Given the description of an element on the screen output the (x, y) to click on. 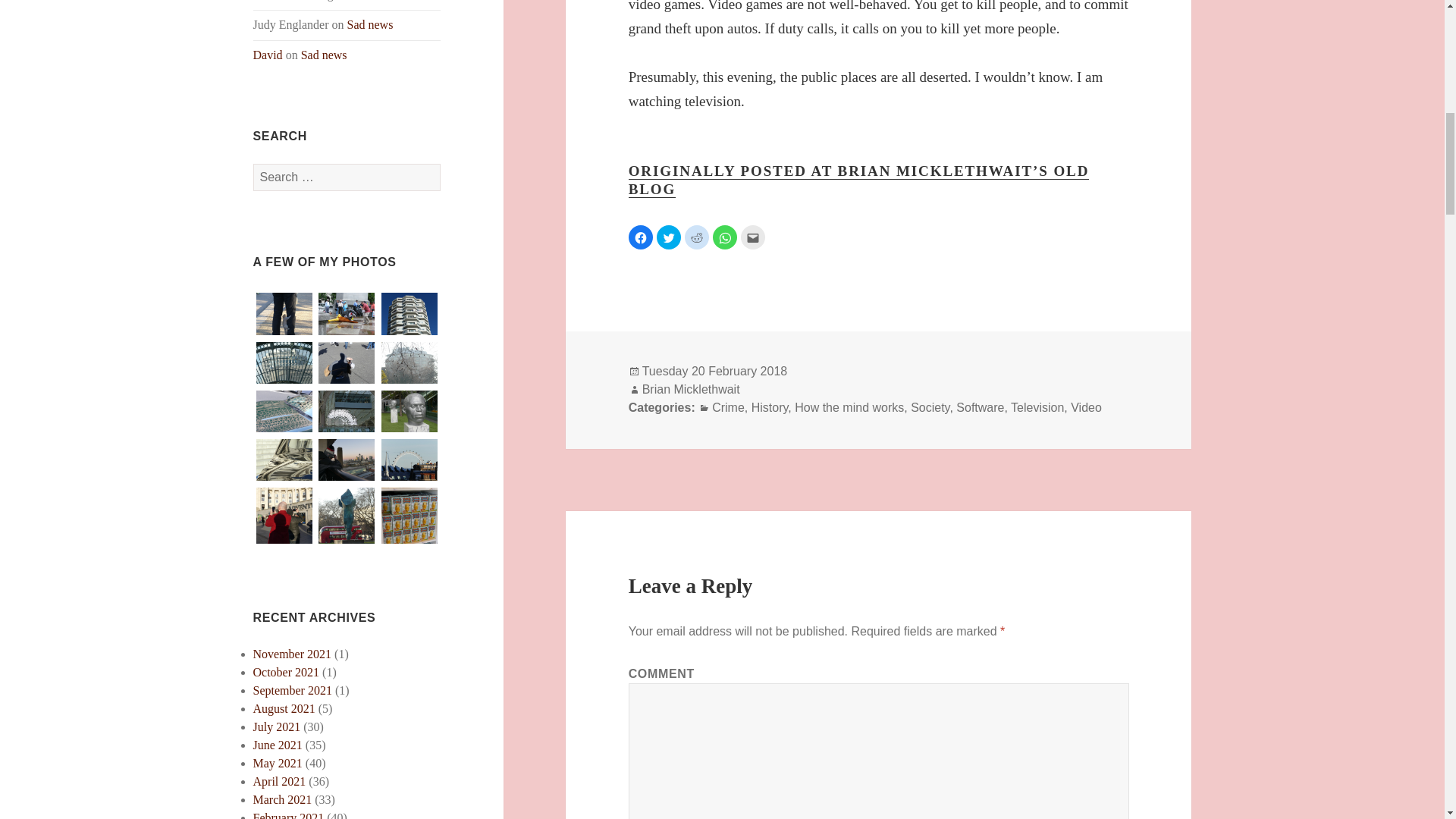
Sad news (324, 54)
Click to share on Reddit (696, 237)
Click to share on Twitter (668, 237)
Sad news (379, 0)
Click to email this to a friend (753, 237)
Sad news (370, 24)
Click to share on Facebook (640, 237)
Click to share on WhatsApp (724, 237)
David (267, 54)
